Given the description of an element on the screen output the (x, y) to click on. 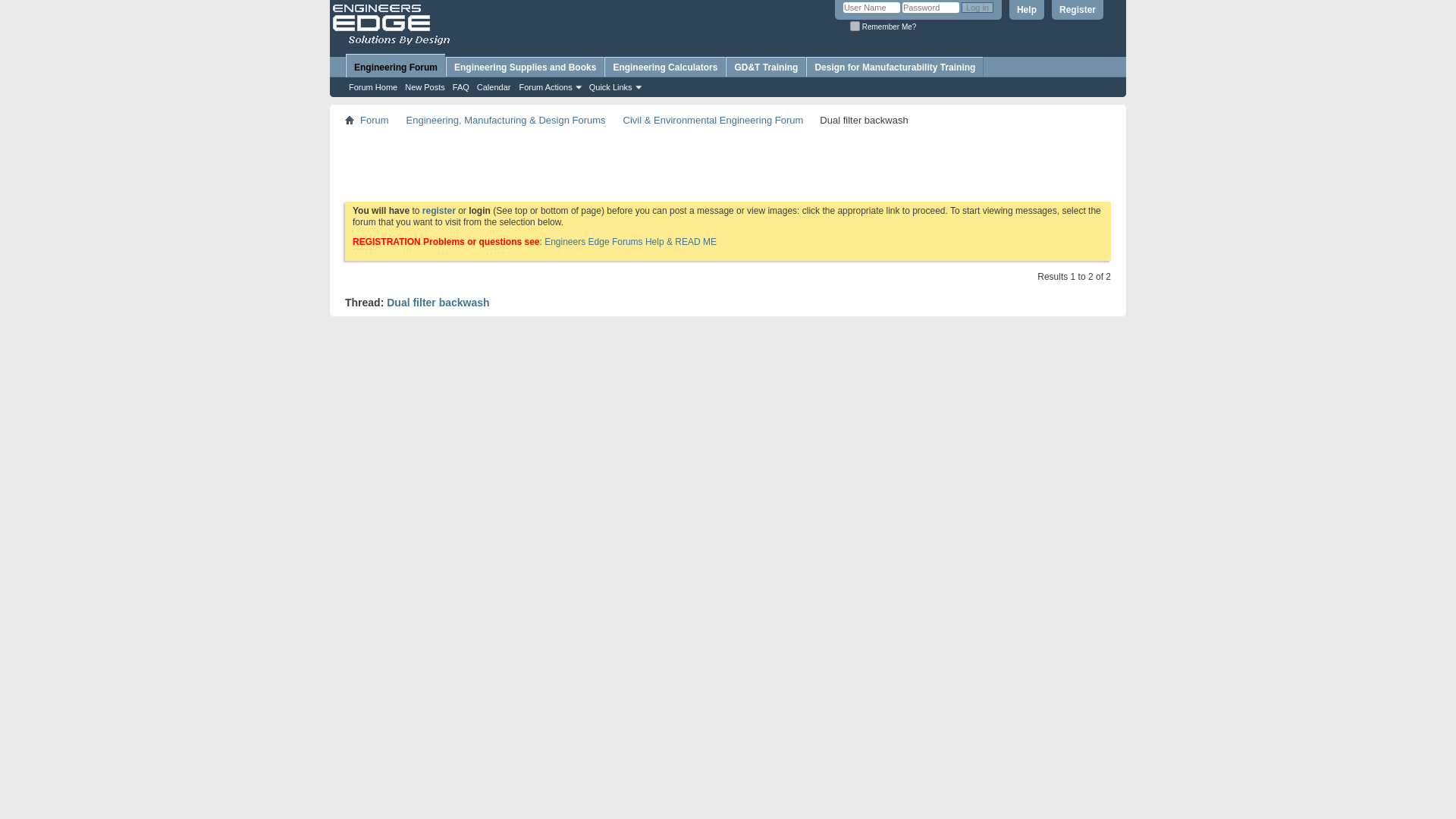
Quick Links (615, 87)
Dual filter backwash (438, 302)
Forum (374, 120)
register (438, 210)
New Posts (424, 87)
Calendar (494, 87)
Engineering Supplies and Books (524, 66)
Engineering Forum (395, 65)
Engineering Calculators (664, 66)
Forum Home (373, 87)
FAQ (460, 87)
Forum Actions (548, 87)
Reload this Page (438, 302)
